Given the description of an element on the screen output the (x, y) to click on. 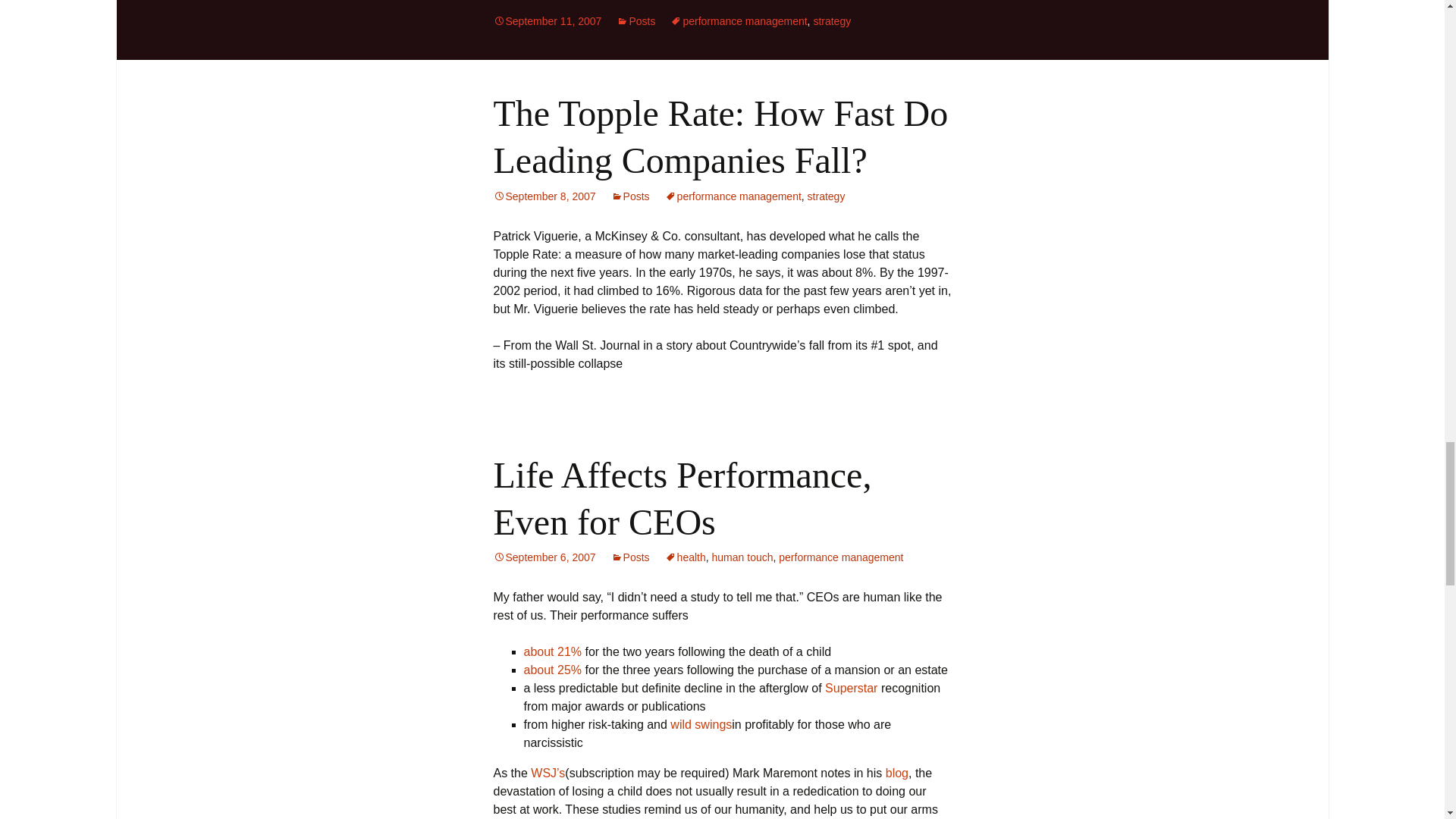
September 11, 2007 (547, 21)
Permalink to  (547, 21)
Permalink to Life Affects Performance, Even for CEOs (544, 557)
